Given the description of an element on the screen output the (x, y) to click on. 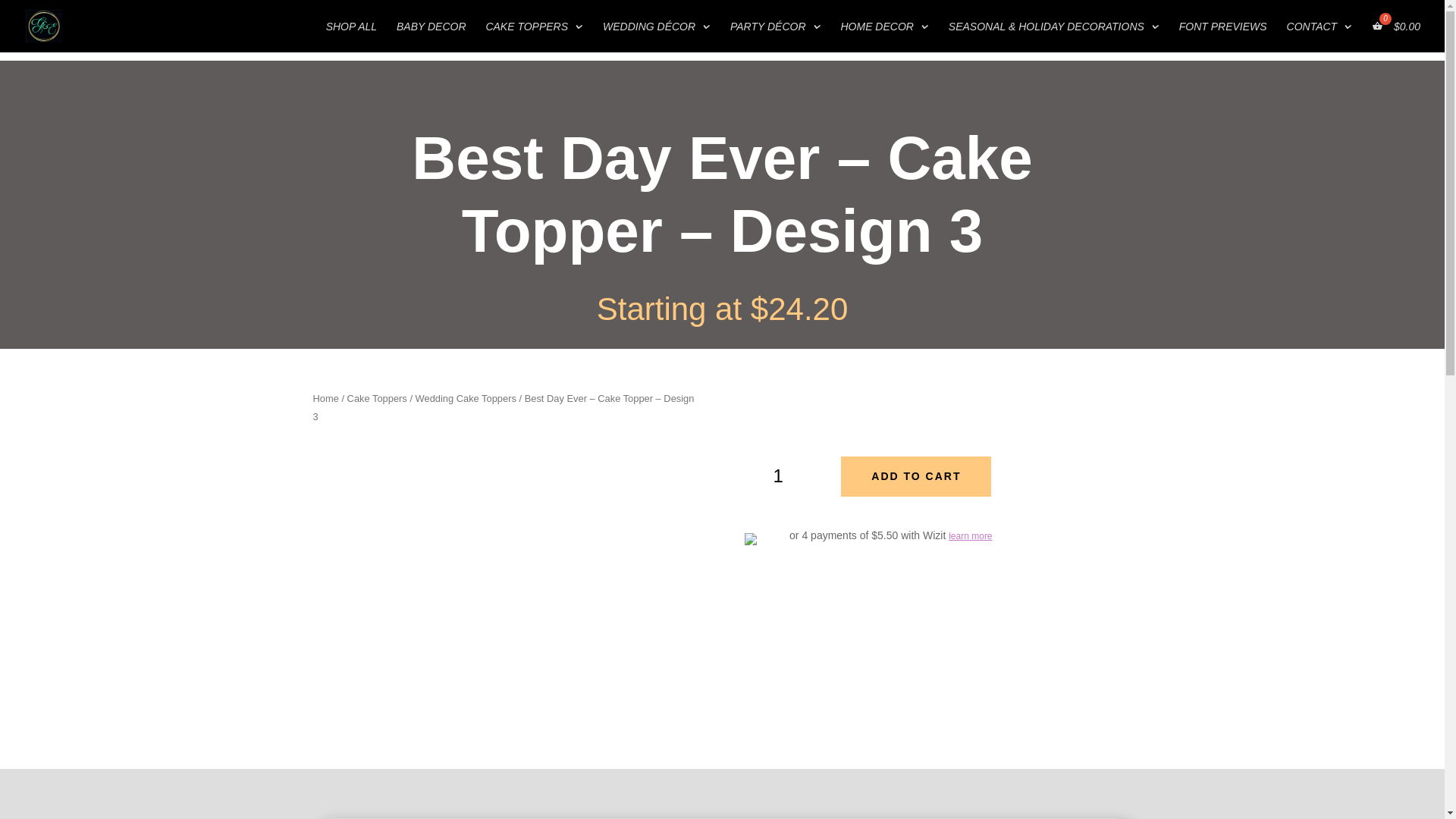
CONTACT Element type: text (1319, 36)
ADD TO CART Element type: text (915, 476)
Wedding Cake Toppers Element type: text (465, 398)
SEASONAL & HOLIDAY DECORATIONS Element type: text (1053, 36)
SHOP ALL Element type: text (351, 36)
FONT PREVIEWS Element type: text (1223, 36)
HOME DECOR Element type: text (884, 36)
learn more Element type: text (969, 535)
$0.00 Element type: text (1395, 36)
BABY DECOR Element type: text (431, 36)
CAKE TOPPERS Element type: text (534, 36)
Home Element type: text (325, 398)
Cake Toppers Element type: text (377, 398)
